Given the description of an element on the screen output the (x, y) to click on. 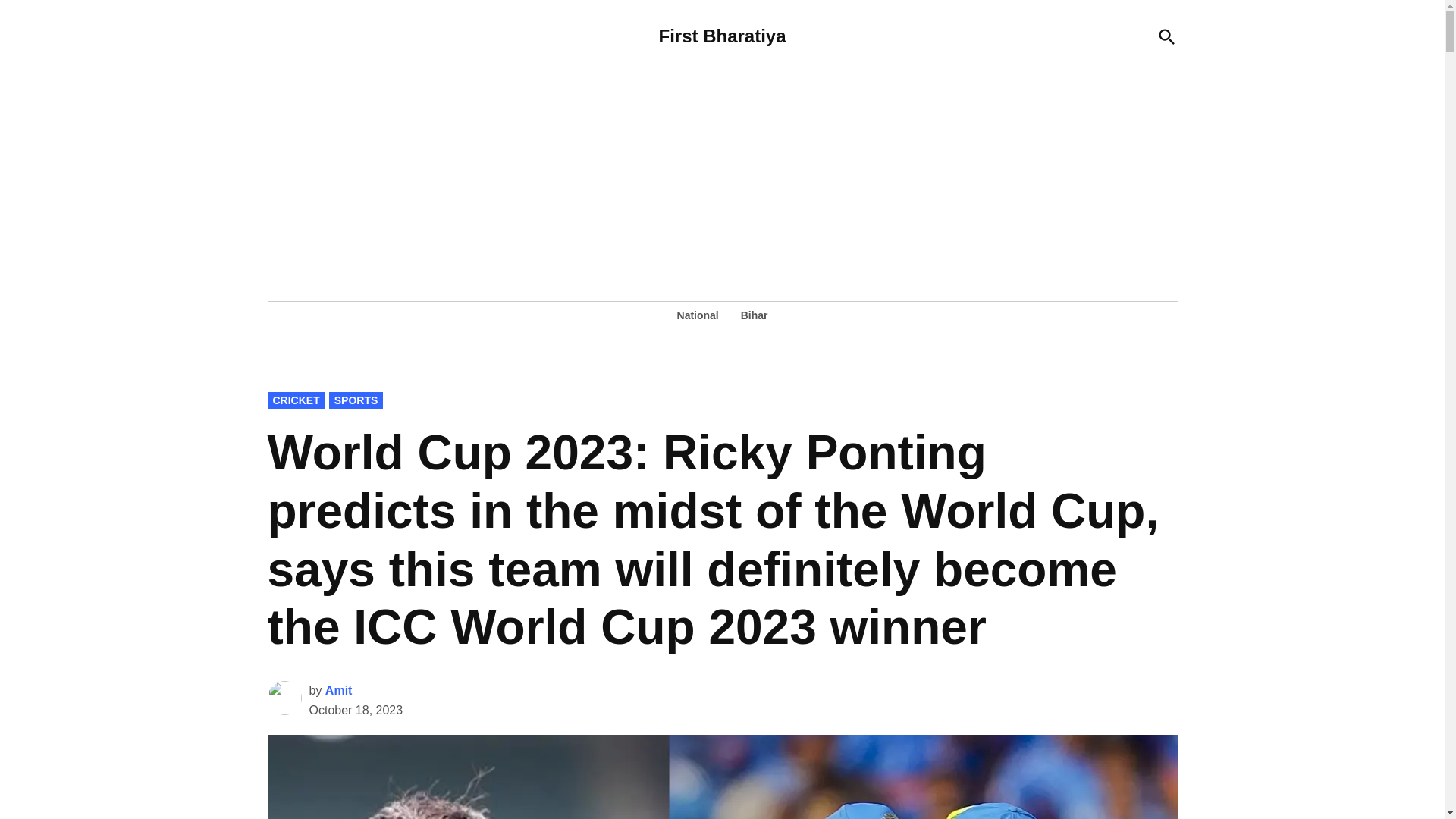
Amit (338, 689)
SPORTS (356, 400)
National (701, 315)
First Bharatiya (722, 35)
CRICKET (295, 400)
Bihar (750, 315)
